Given the description of an element on the screen output the (x, y) to click on. 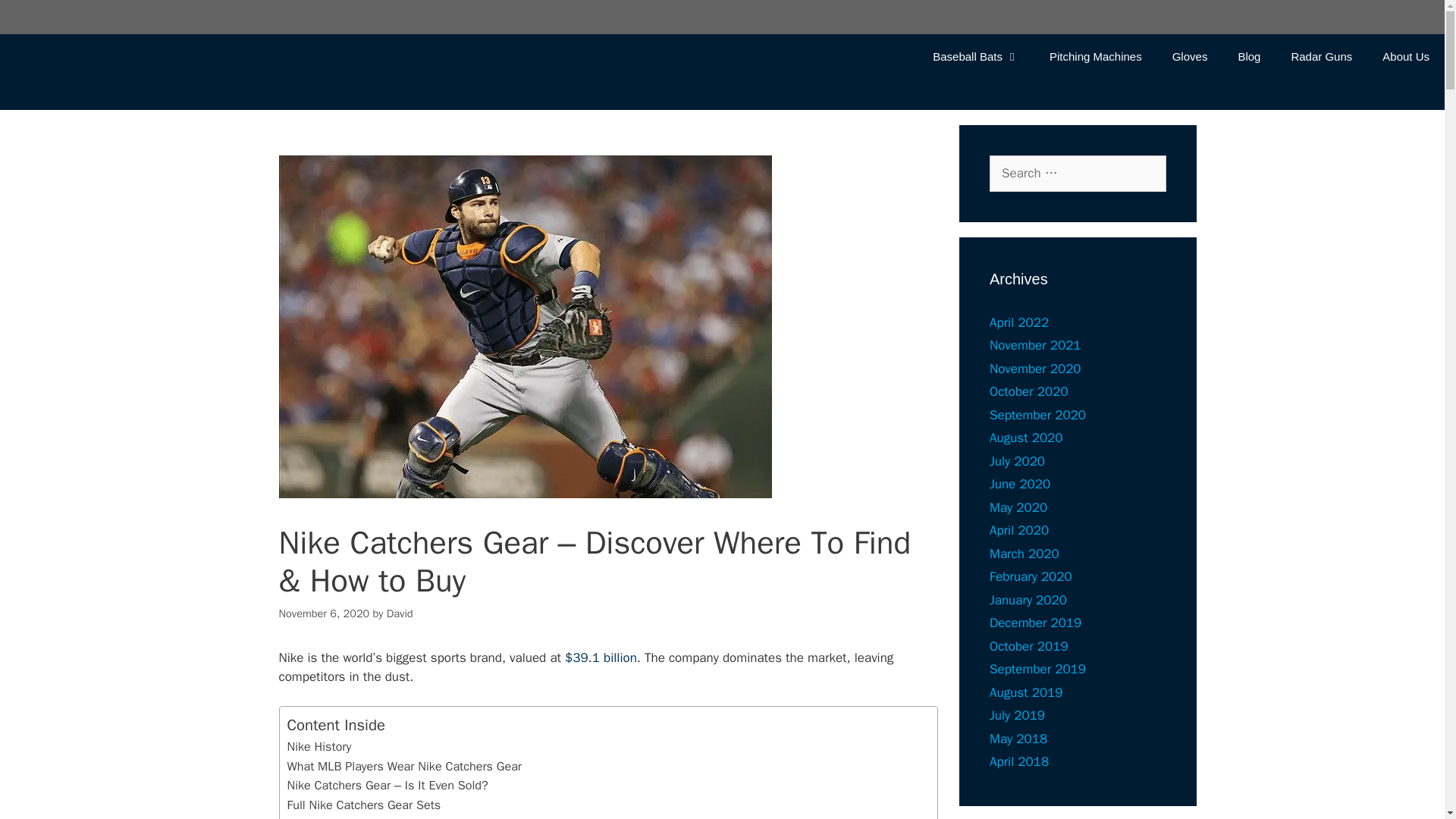
Blog (1249, 56)
David (400, 612)
Baseball Bats (975, 56)
Full Nike Catchers Gear Sets (363, 804)
Gloves (1190, 56)
View all posts by David (400, 612)
What MLB Players Wear Nike Catchers Gear (403, 766)
Pitching Machines (1095, 56)
What MLB Players Wear Nike Catchers Gear (403, 766)
Nike History (318, 746)
Full Nike Catchers Gear Sets (363, 804)
Nike Chest Protectors (344, 816)
Nike Chest Protectors (344, 816)
Search for: (1078, 173)
Nike History (318, 746)
